Given the description of an element on the screen output the (x, y) to click on. 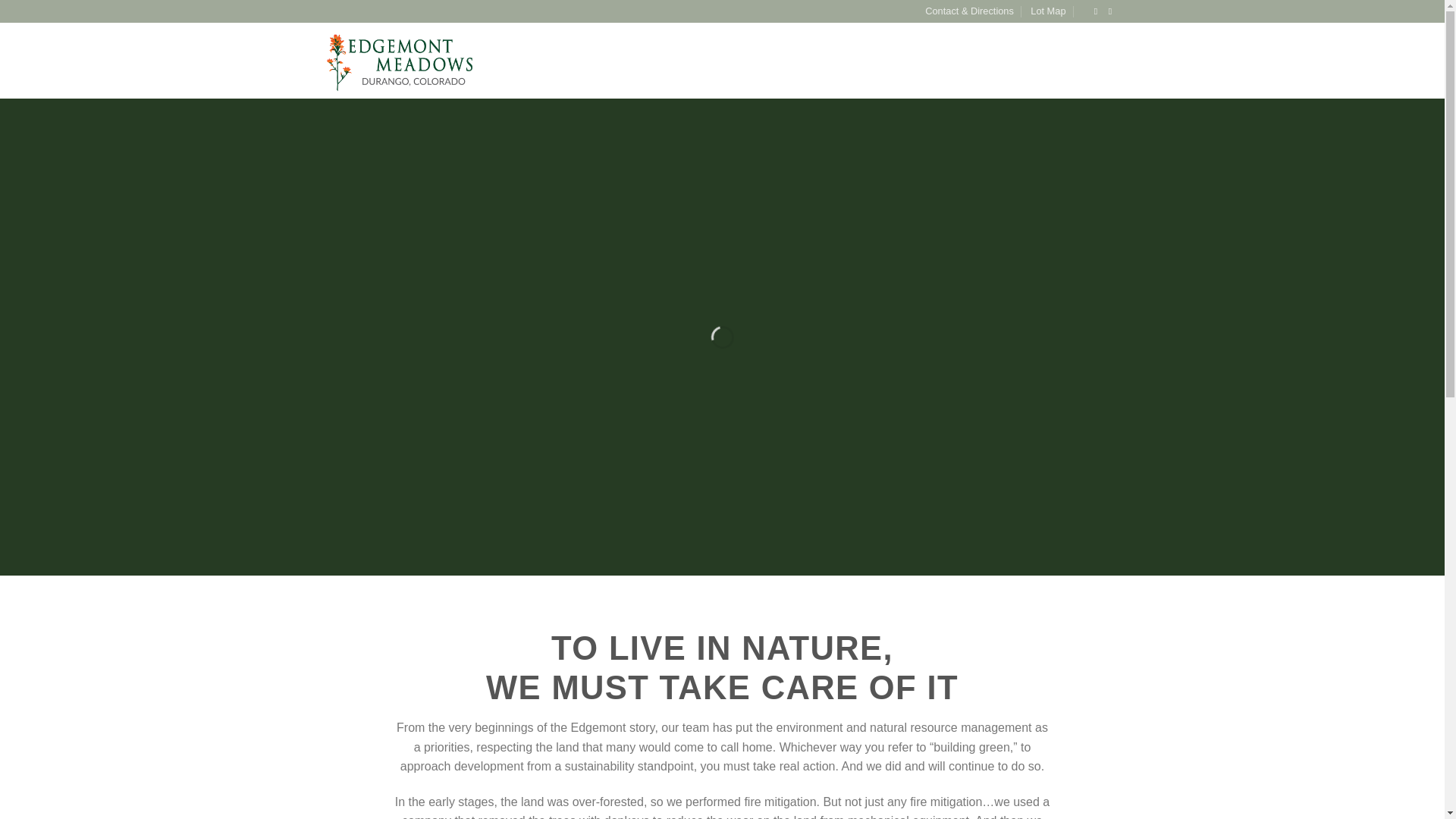
BUILDING HERE FAQS (894, 60)
PICNIC GROUNDS INFORMATION (1040, 60)
OUR NEIGHBORHOOD (771, 60)
COMMUNITY (668, 60)
Lot Map (1047, 11)
